Given the description of an element on the screen output the (x, y) to click on. 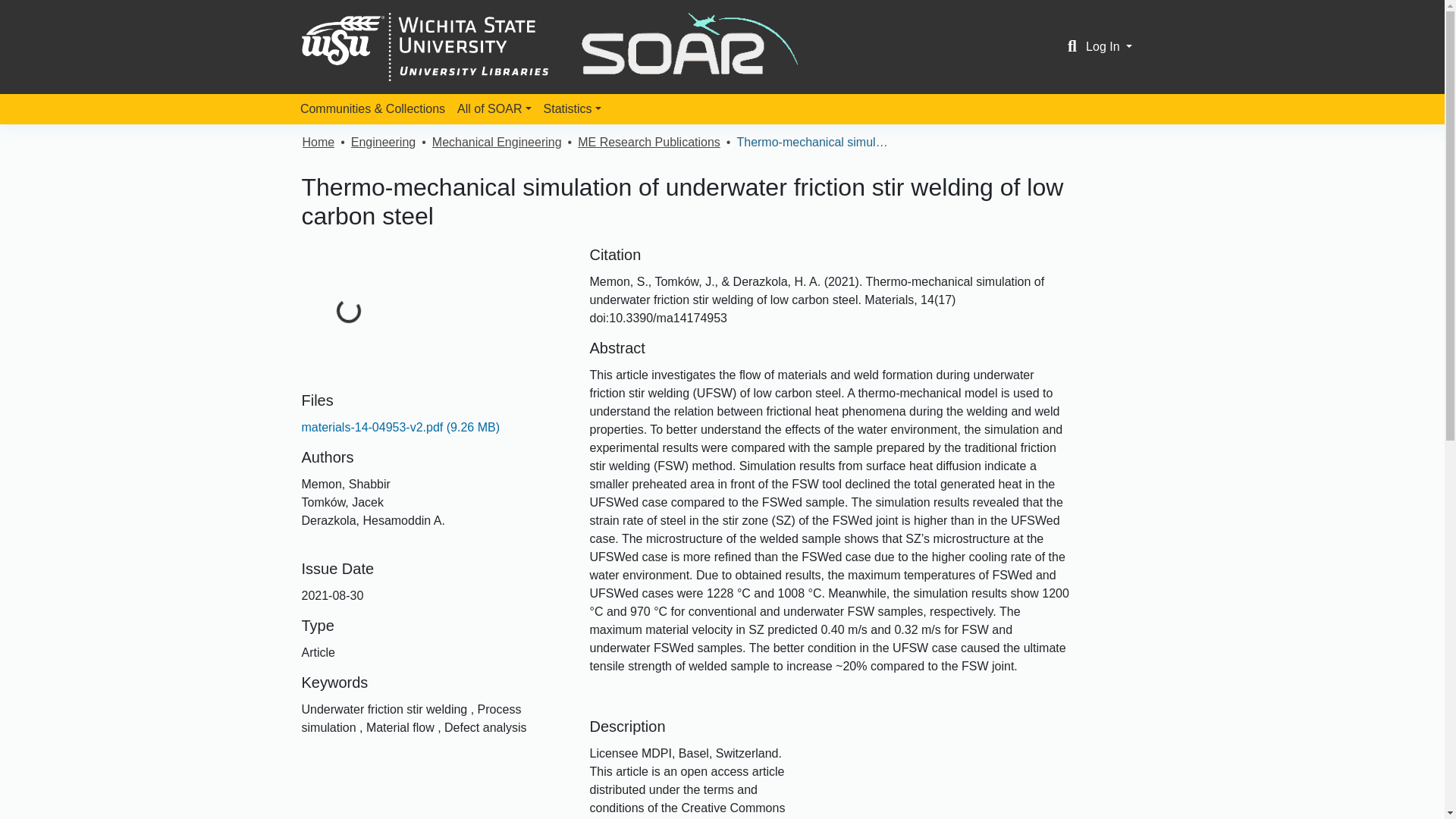
Home (317, 142)
All of SOAR (494, 109)
Statistics (572, 109)
Log In (1108, 46)
Engineering (382, 142)
Search (1072, 46)
Mechanical Engineering (497, 142)
ME Research Publications (649, 142)
